Given the description of an element on the screen output the (x, y) to click on. 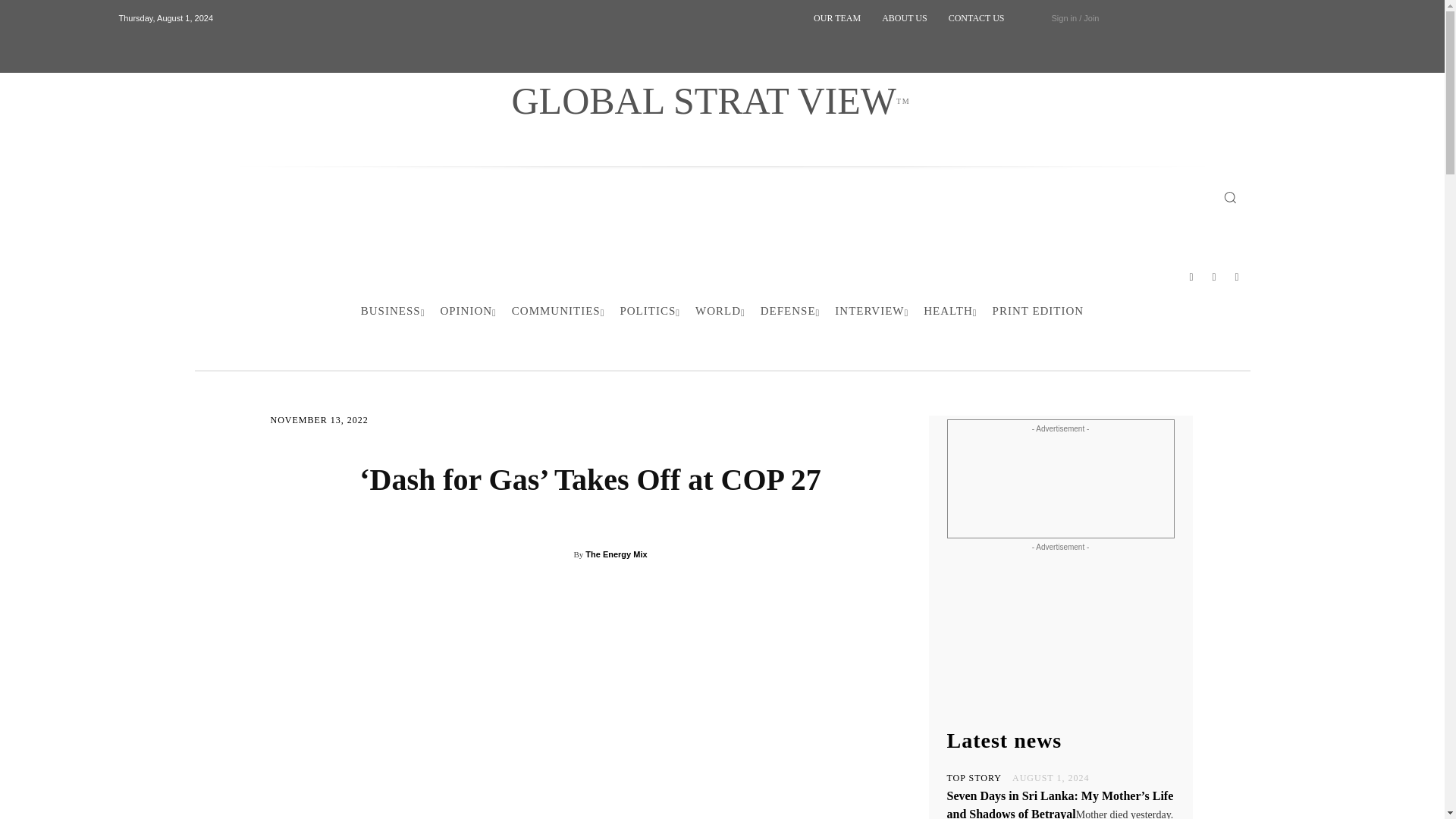
ABOUT US (903, 18)
OUR TEAM (836, 18)
Twitter (1237, 276)
Facebook (1191, 276)
Instagram (1214, 276)
BUSINESS (392, 310)
CONTACT US (710, 101)
